Given the description of an element on the screen output the (x, y) to click on. 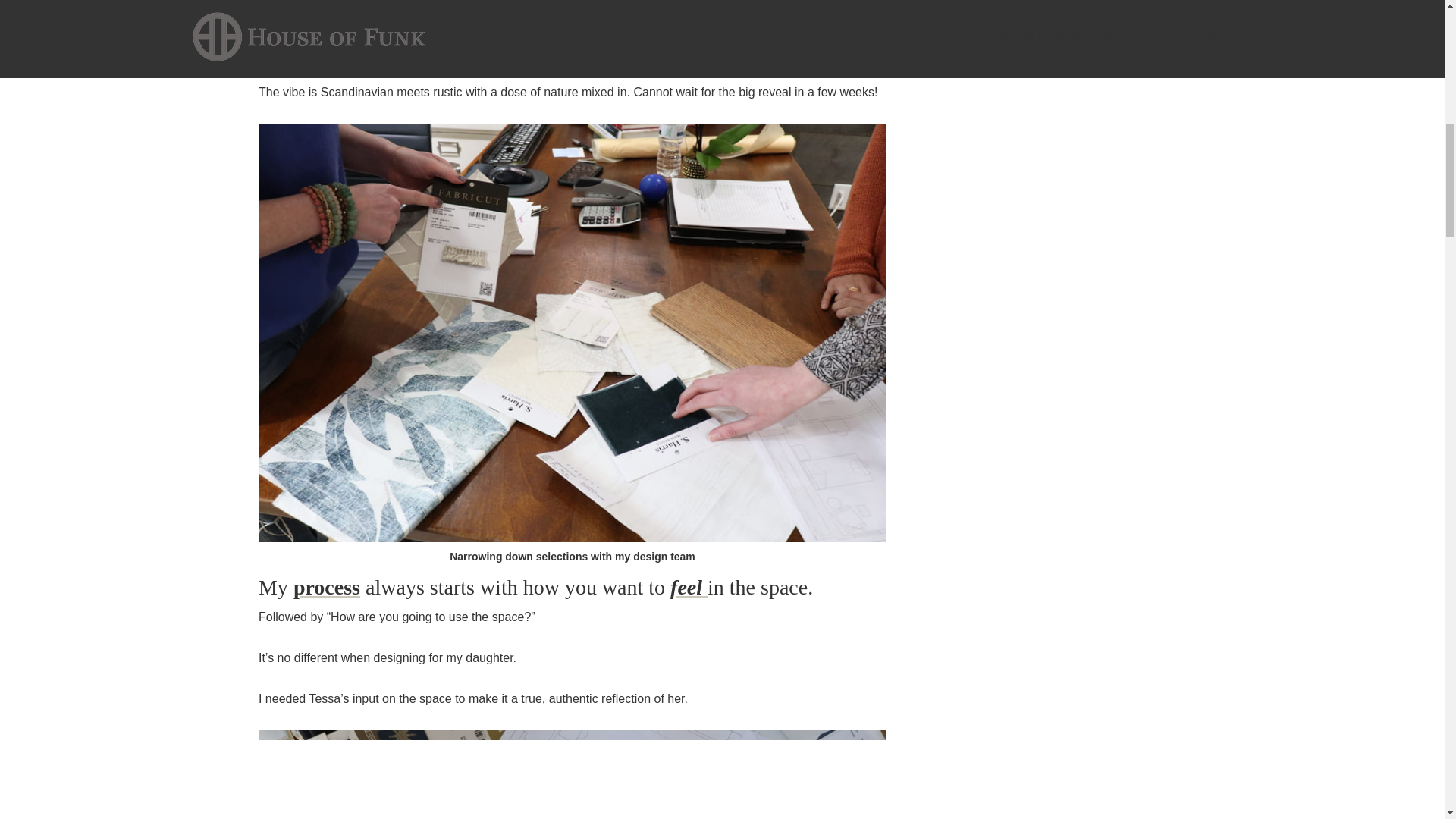
feel (688, 586)
Fabricut (771, 31)
Romo (681, 11)
process (326, 586)
